Given the description of an element on the screen output the (x, y) to click on. 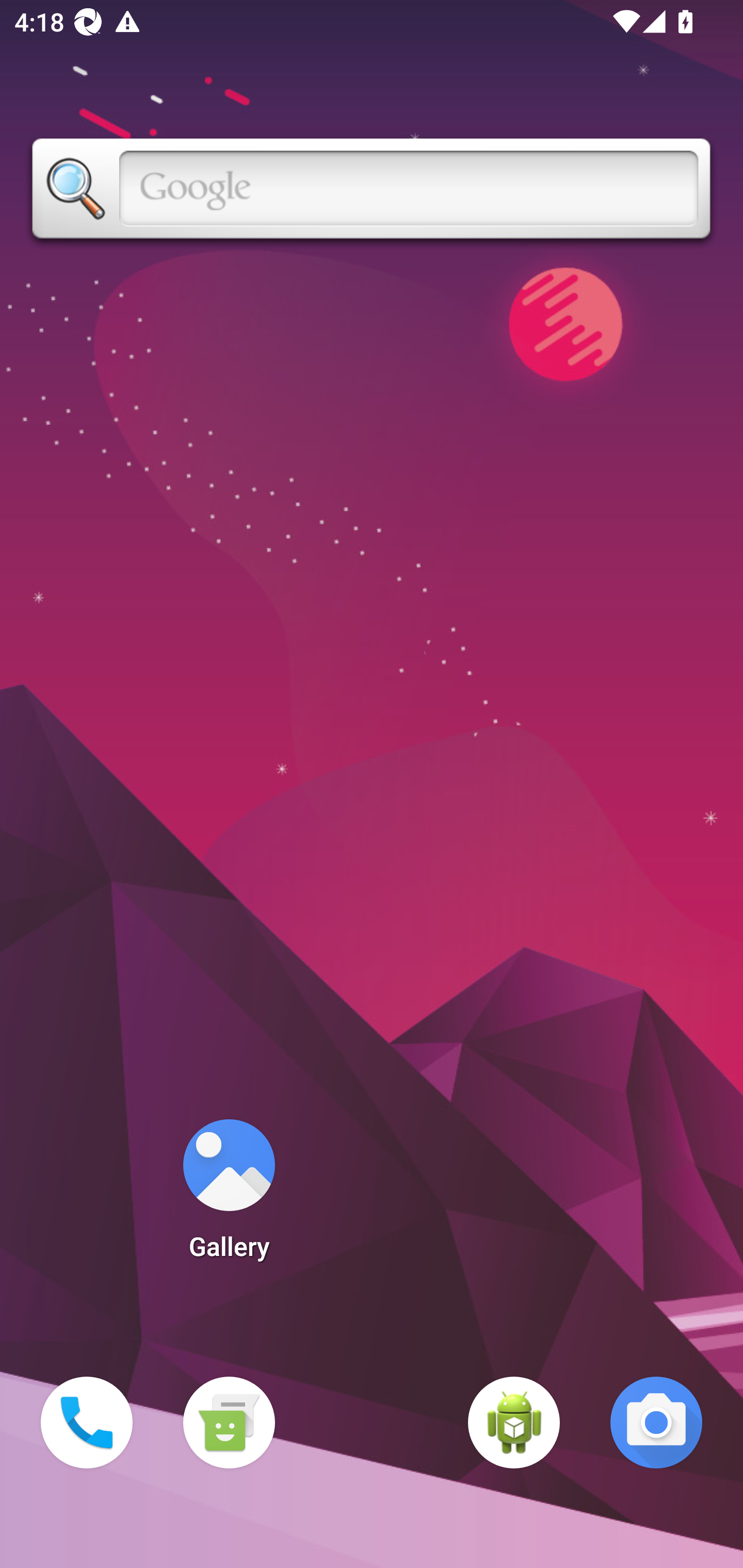
Gallery (228, 1195)
Phone (86, 1422)
Messaging (228, 1422)
WebView Browser Tester (513, 1422)
Camera (656, 1422)
